Given the description of an element on the screen output the (x, y) to click on. 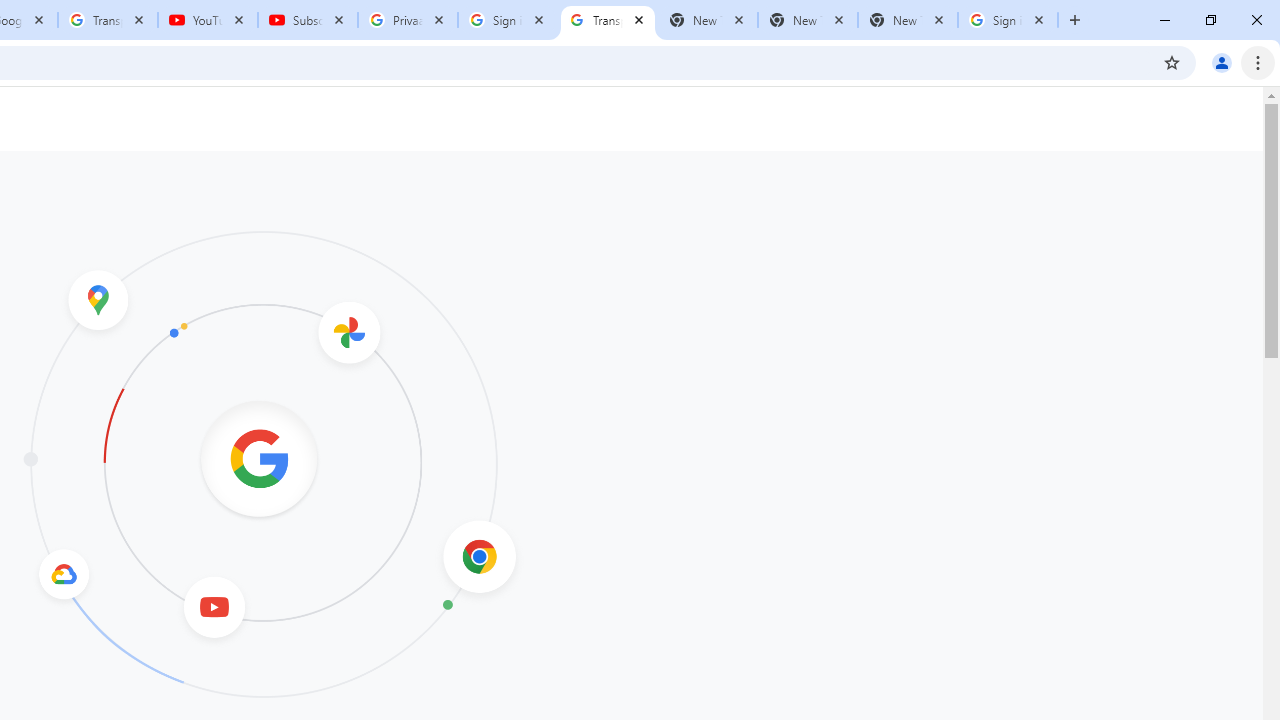
Subscriptions - YouTube (308, 20)
Sign in - Google Accounts (508, 20)
YouTube (207, 20)
New Tab (907, 20)
Sign in - Google Accounts (1007, 20)
